Given the description of an element on the screen output the (x, y) to click on. 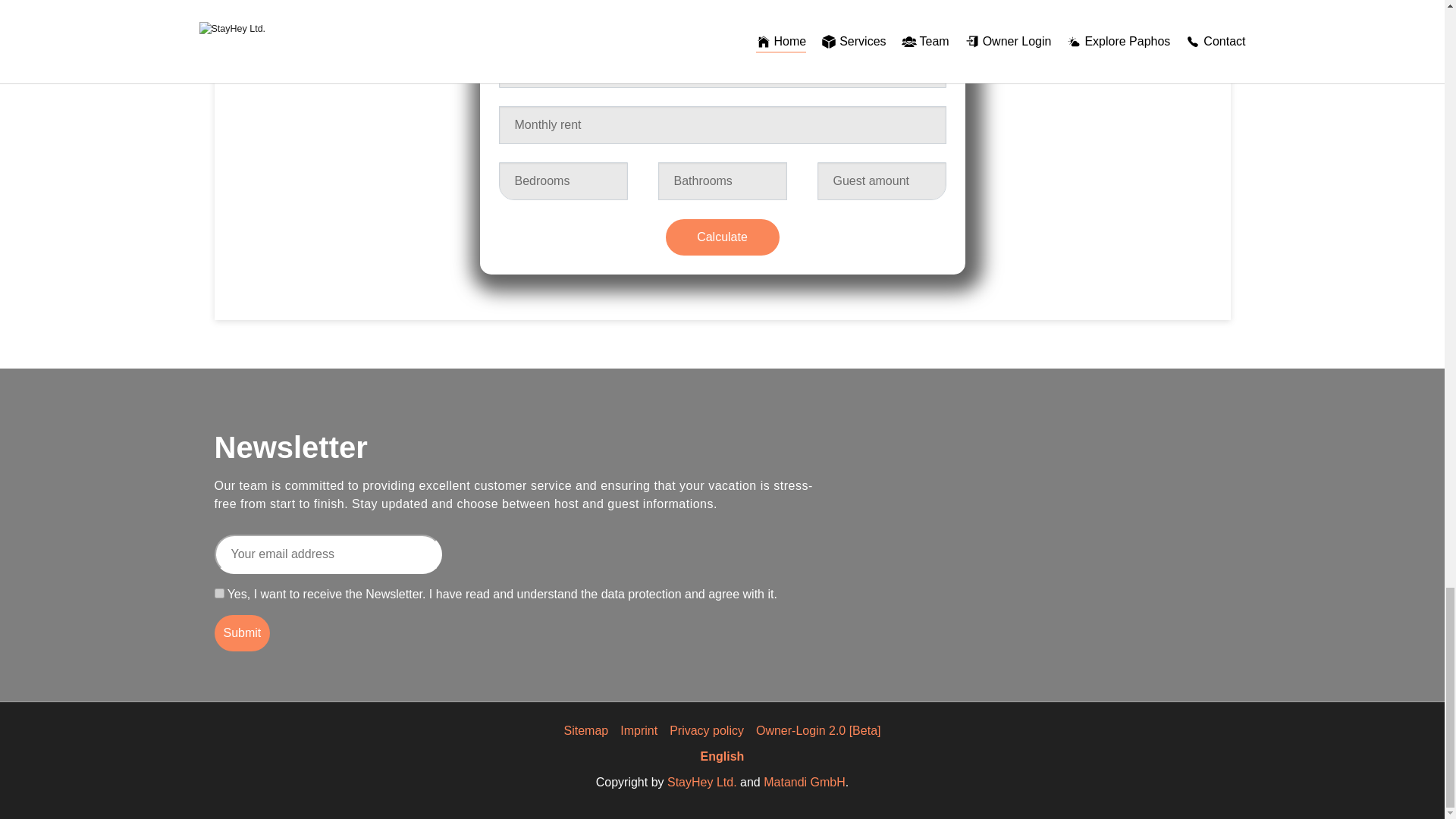
Privacy policy (706, 730)
StayHey Ltd. (701, 781)
Matandi GmbH (803, 781)
data protection (641, 593)
Calculate (721, 237)
Imprint (639, 730)
Calculate (721, 237)
Imprint (639, 730)
1 (219, 593)
Sitemap (586, 730)
